Given the description of an element on the screen output the (x, y) to click on. 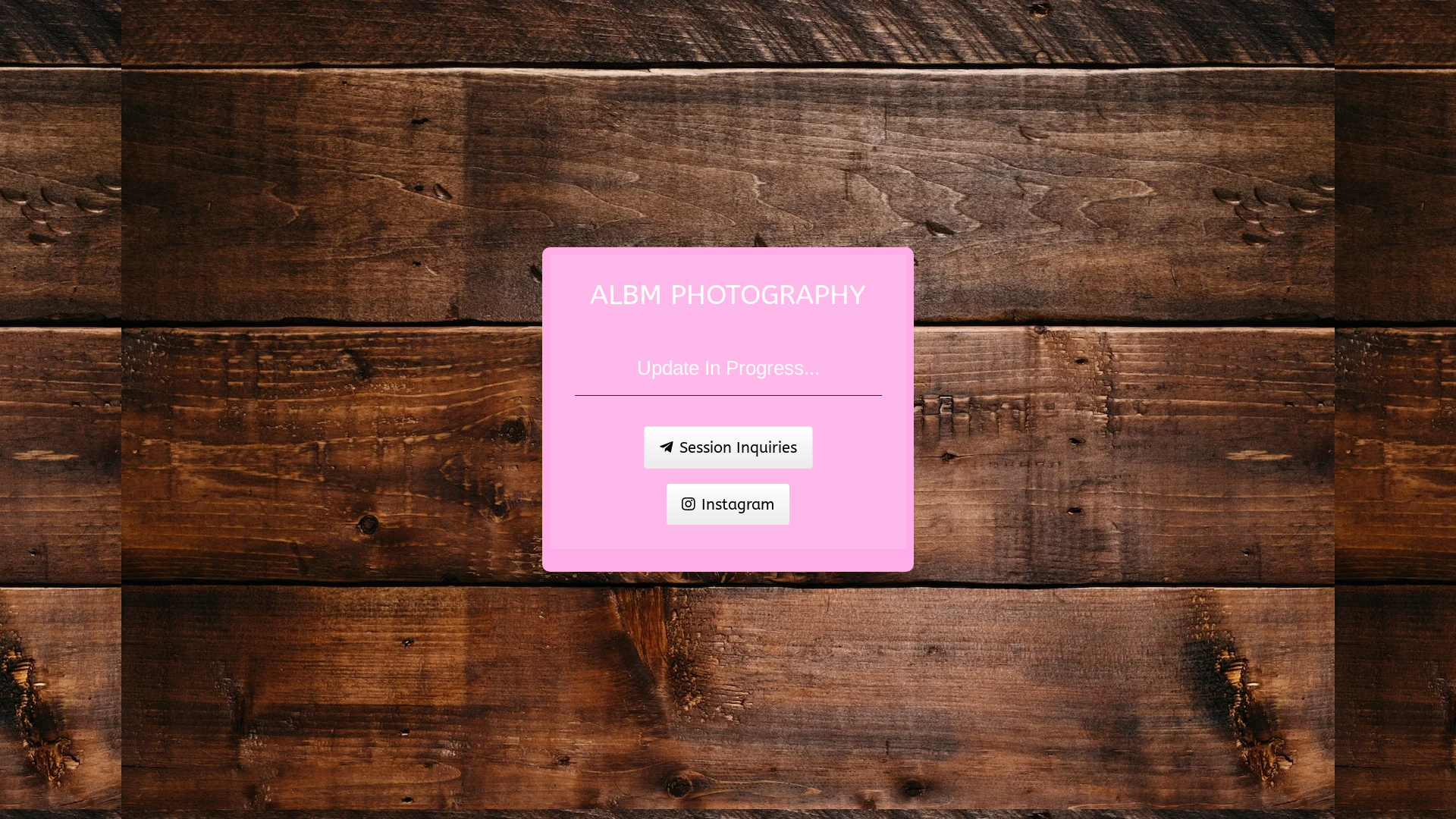
Instagram Element type: text (727, 503)
Session Inquiries Element type: text (727, 447)
